Given the description of an element on the screen output the (x, y) to click on. 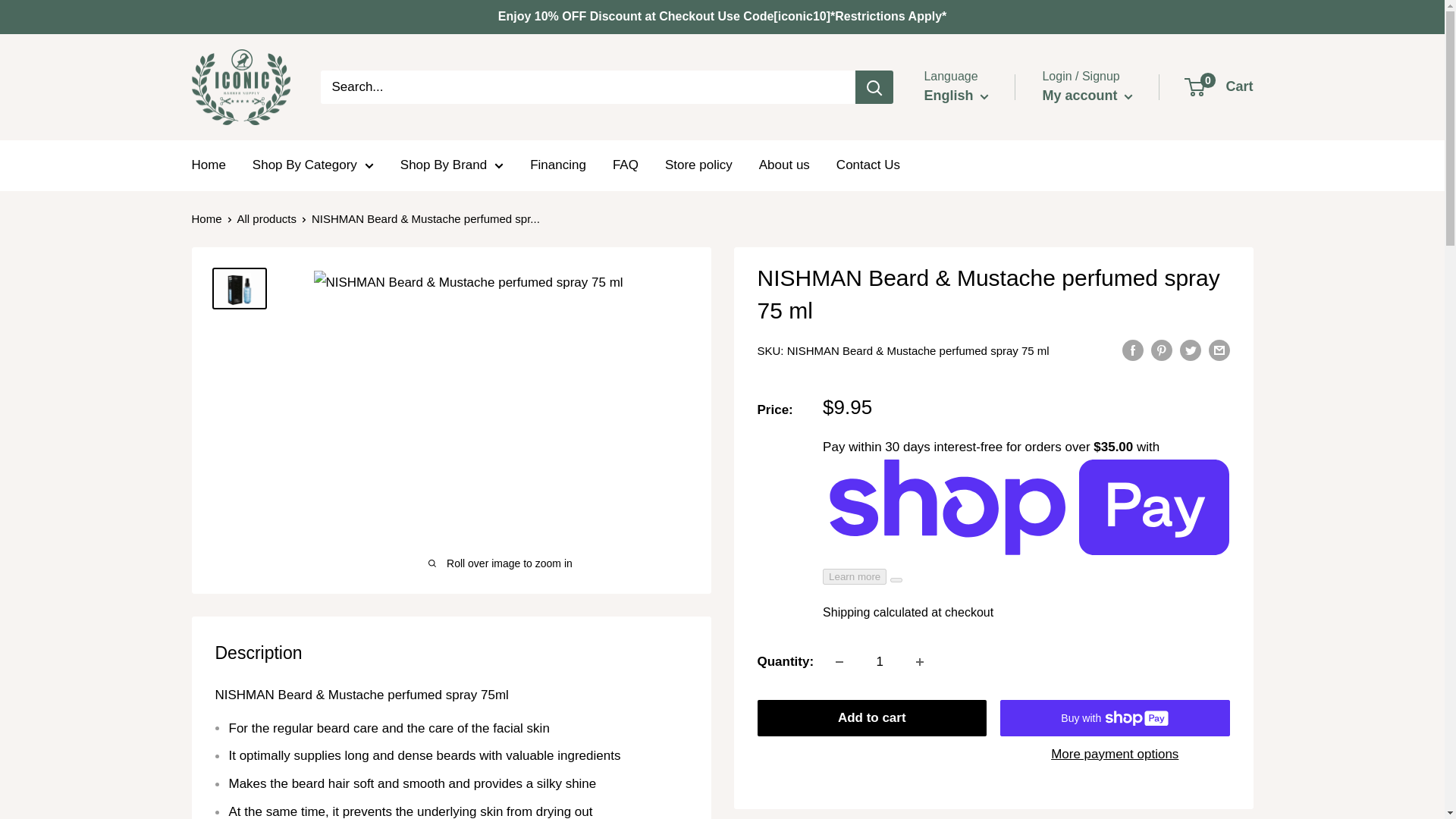
1 (880, 662)
Decrease quantity by 1 (840, 662)
Increase quantity by 1 (920, 662)
